Given the description of an element on the screen output the (x, y) to click on. 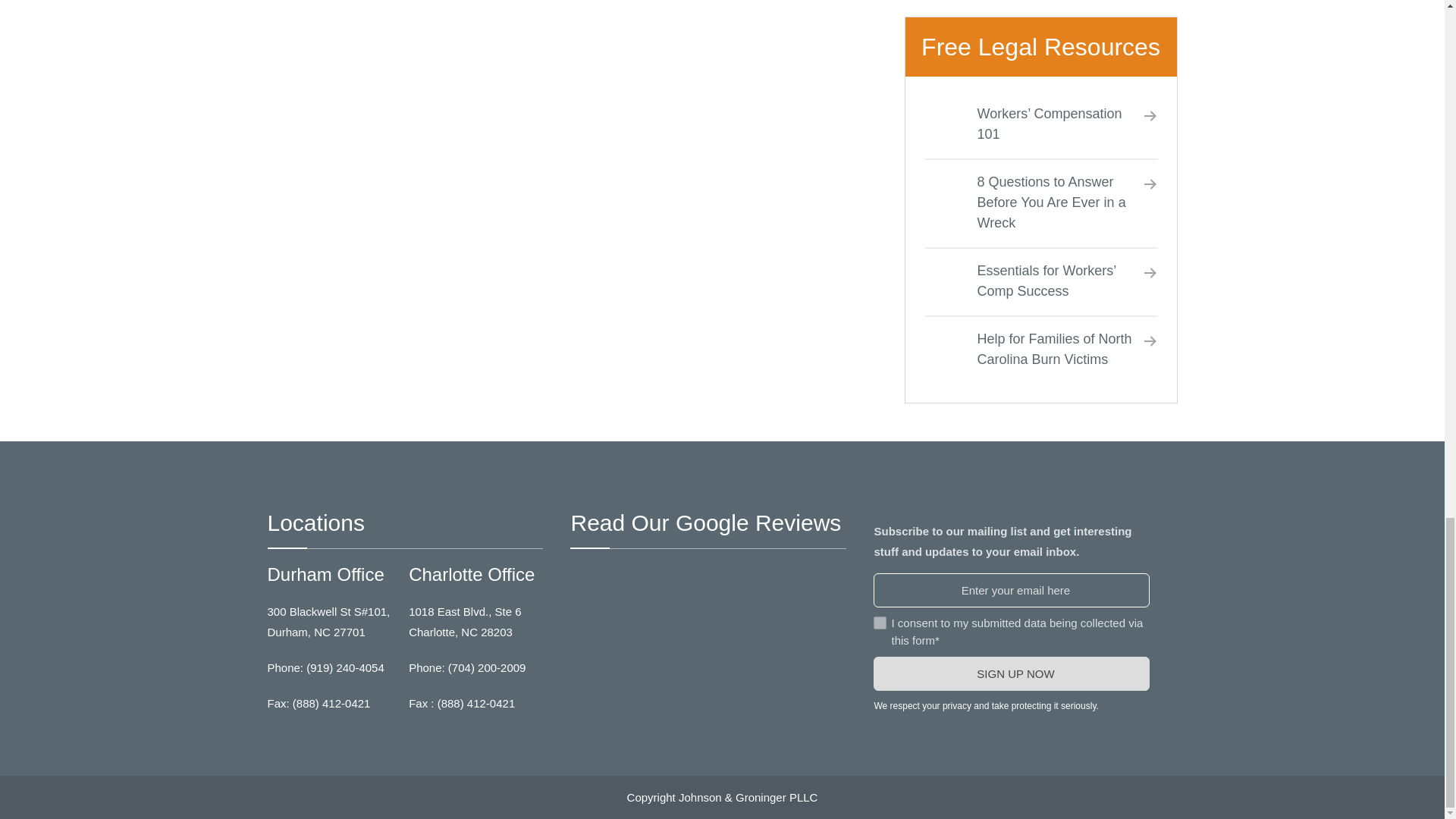
Enter your email here (1011, 590)
on (879, 622)
Sign Up Now (1011, 673)
